Given the description of an element on the screen output the (x, y) to click on. 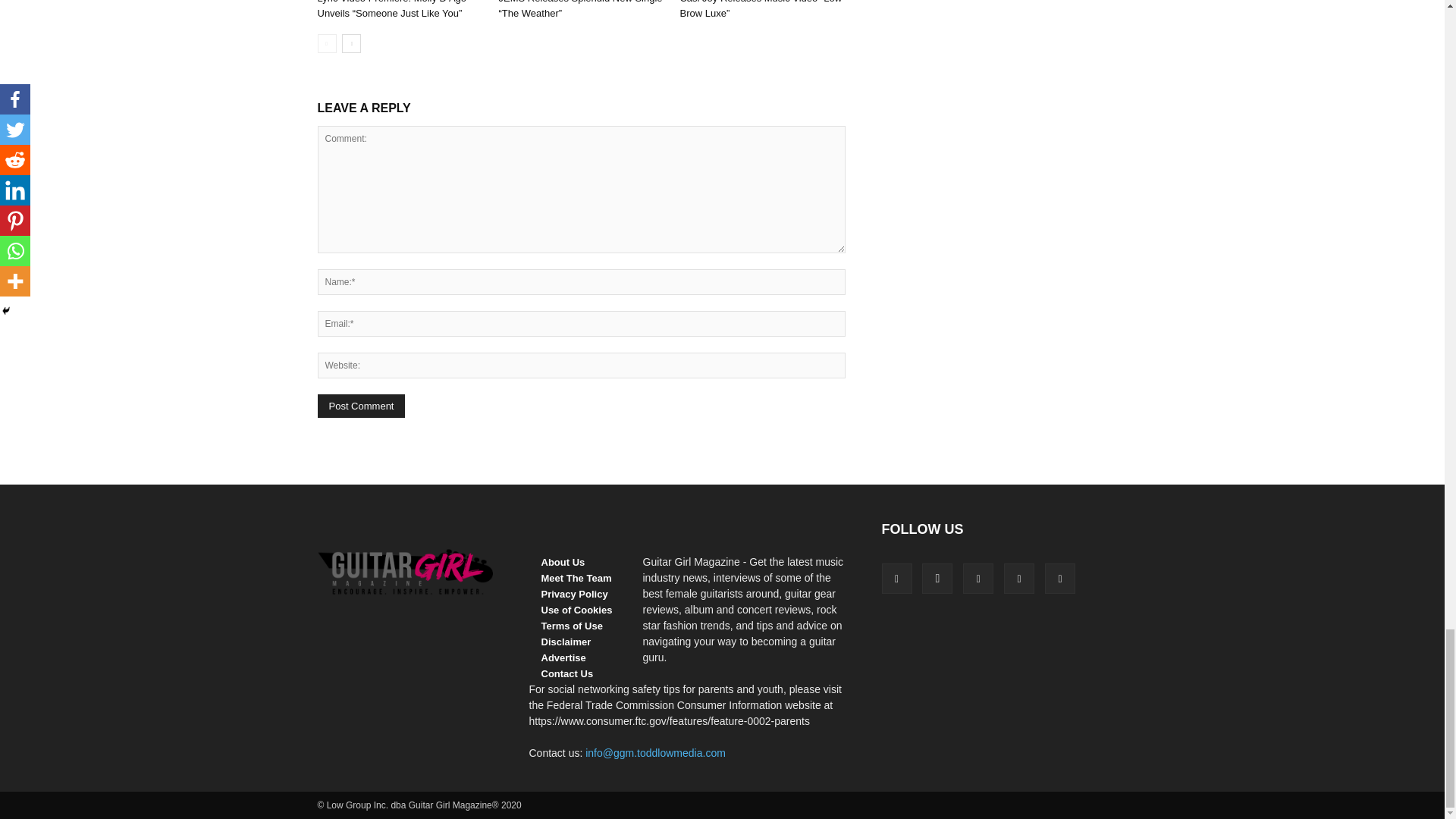
Post Comment (360, 405)
